Given the description of an element on the screen output the (x, y) to click on. 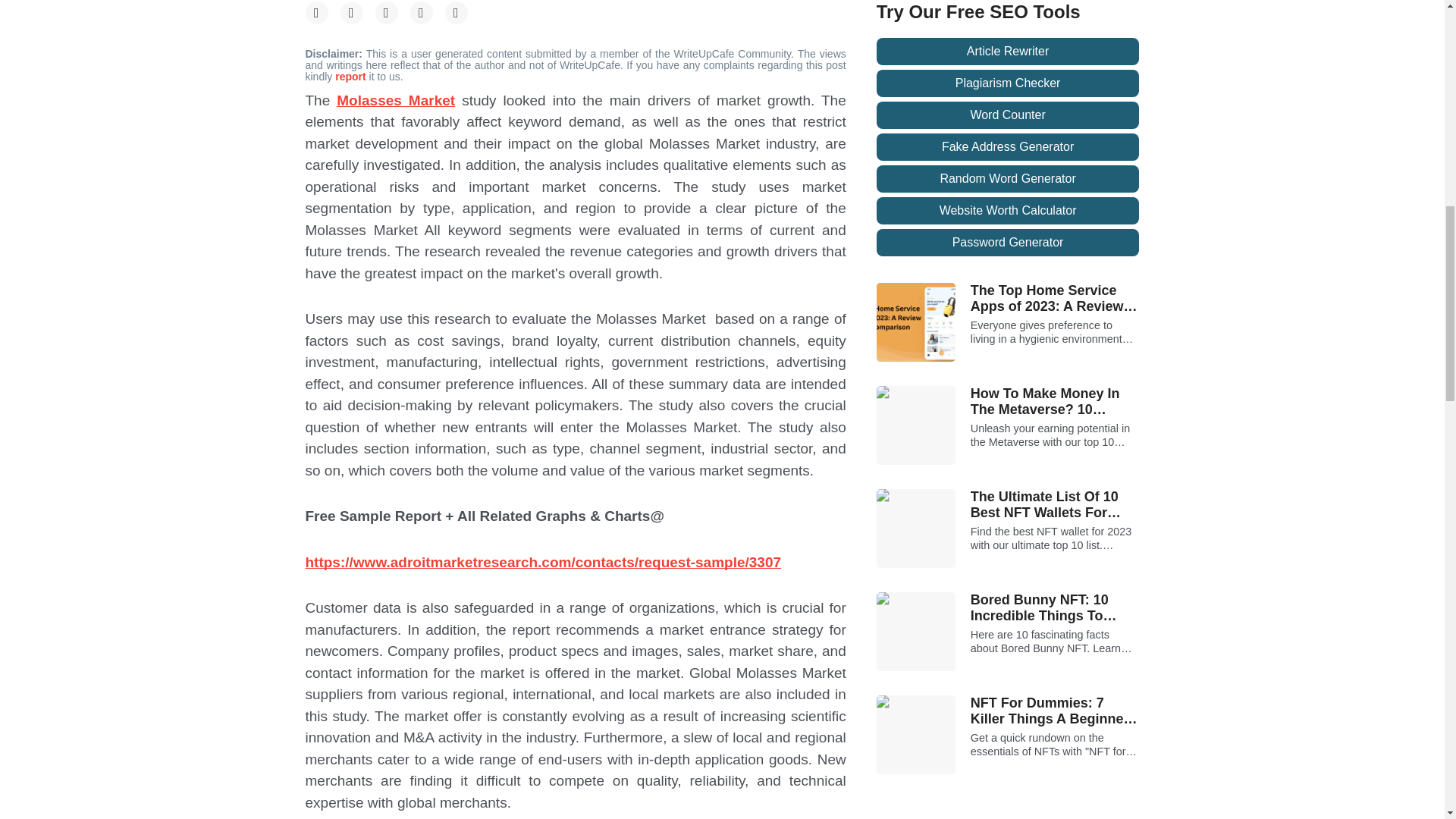
Random Word Generator (1008, 178)
report (351, 76)
Website Worth Calculator (1008, 210)
Word Counter (1008, 114)
Plagiarism Checker (1008, 83)
Password Generator (1008, 242)
The Top Home Service Apps of 2023: A Review and Comparison (1055, 298)
